Given the description of an element on the screen output the (x, y) to click on. 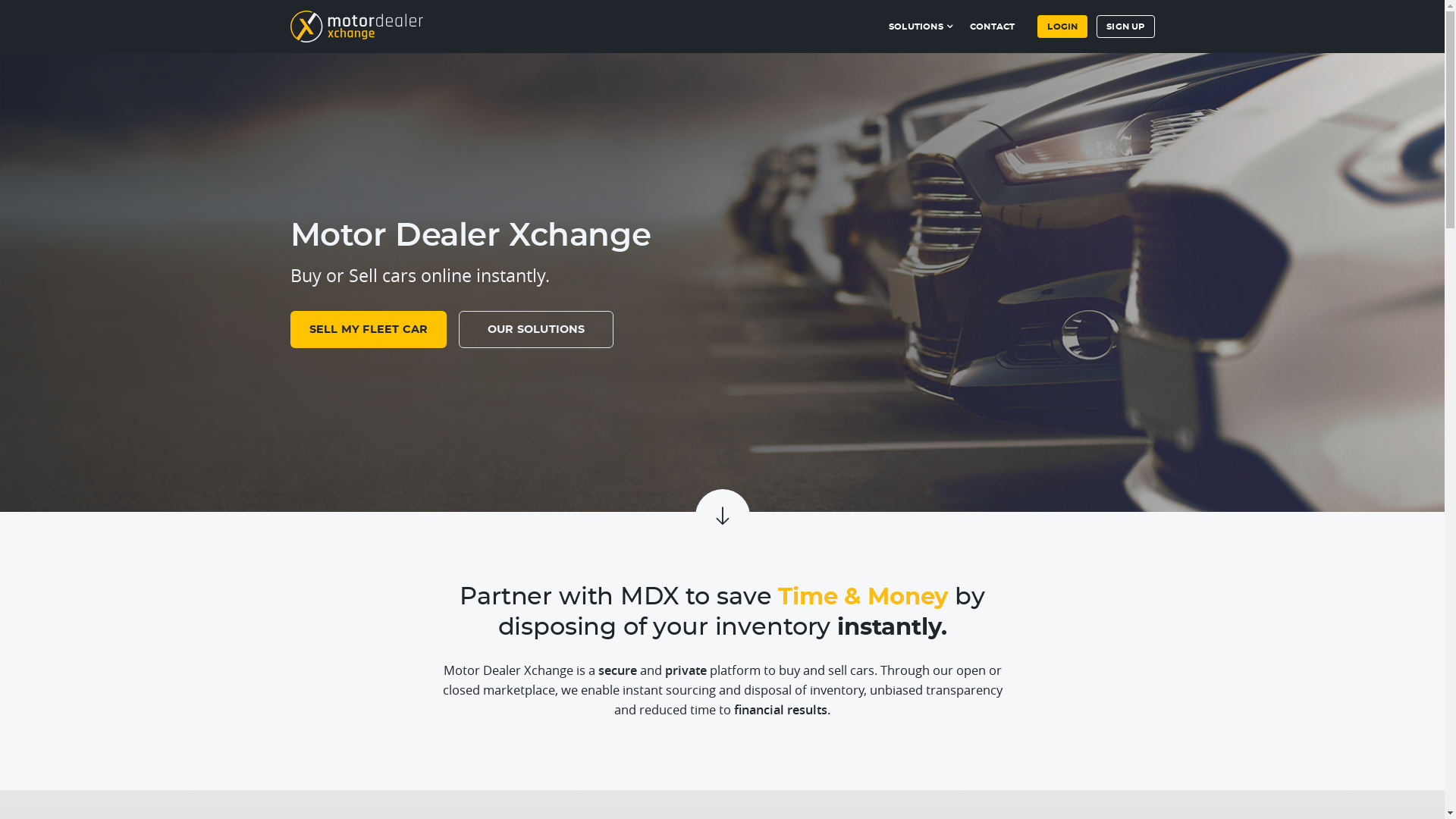
OUR SOLUTIONS Element type: text (535, 329)
SOLUTIONS Element type: text (921, 22)
CONTACT Element type: text (992, 22)
SIGN UP Element type: text (1125, 26)
LOGIN Element type: text (1062, 26)
SELL MY FLEET CAR Element type: text (367, 329)
